Given the description of an element on the screen output the (x, y) to click on. 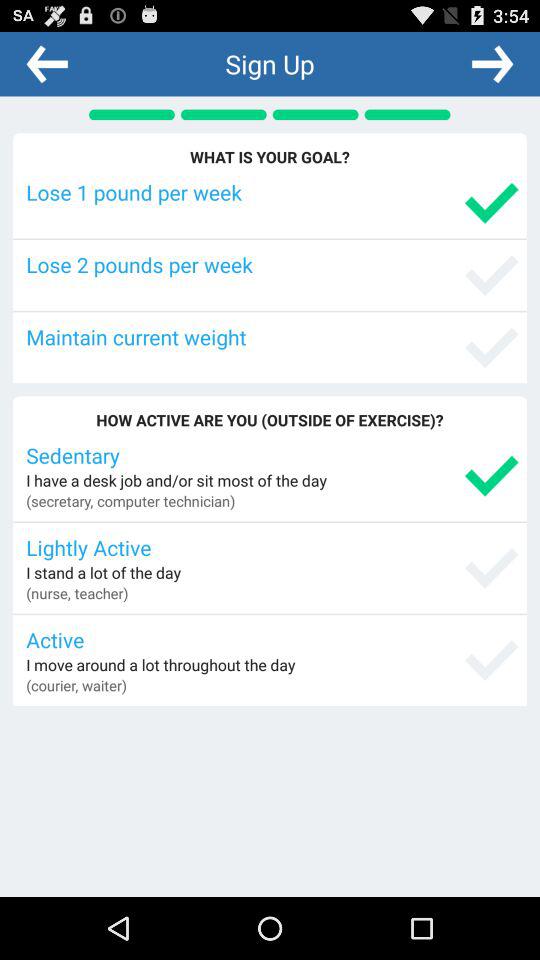
scroll until lose 1 pound (272, 191)
